Given the description of an element on the screen output the (x, y) to click on. 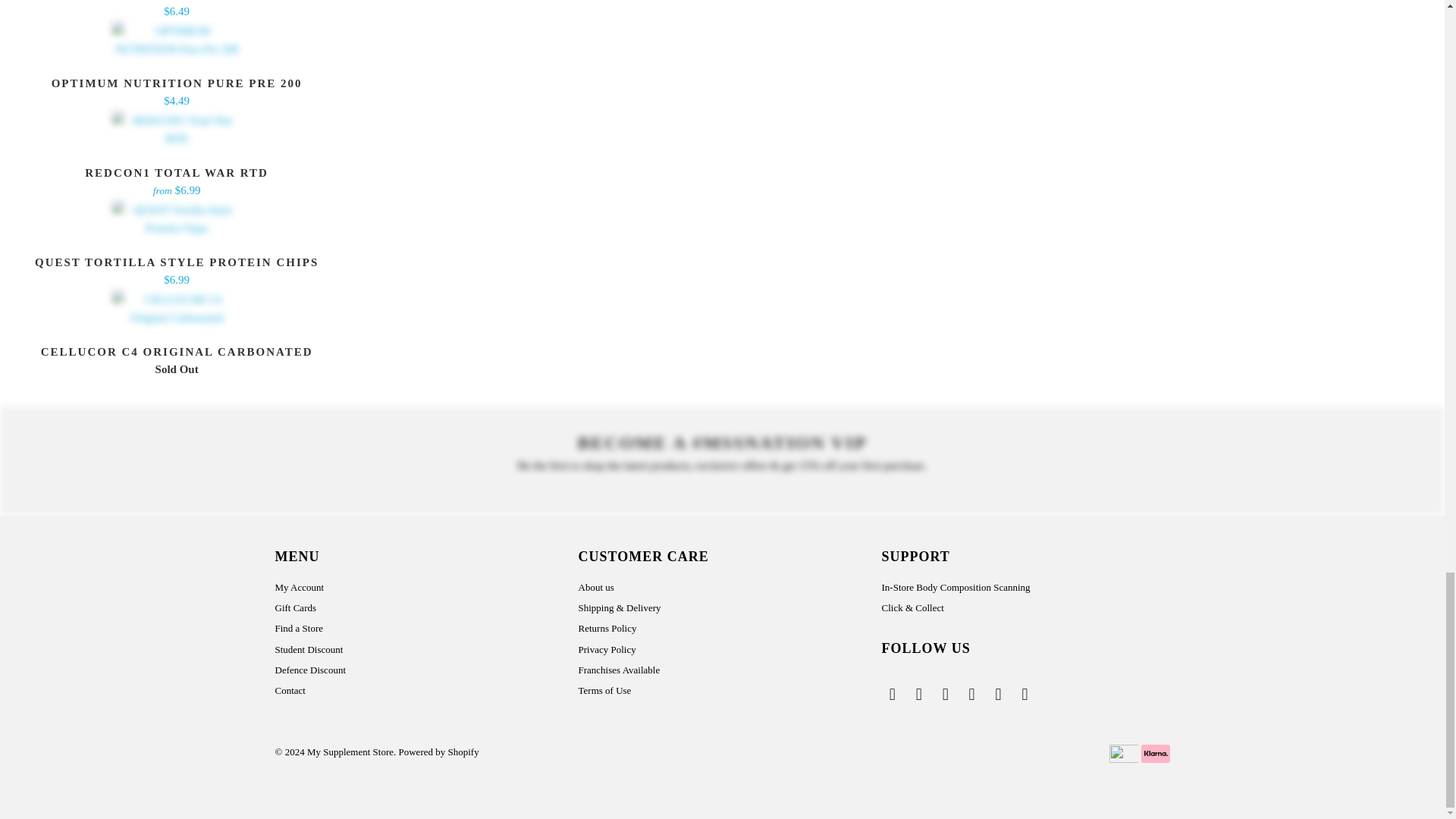
Klarna (1154, 753)
My Supplement Store on Twitter (892, 694)
My Supplement Store on Facebook (918, 694)
